Given the description of an element on the screen output the (x, y) to click on. 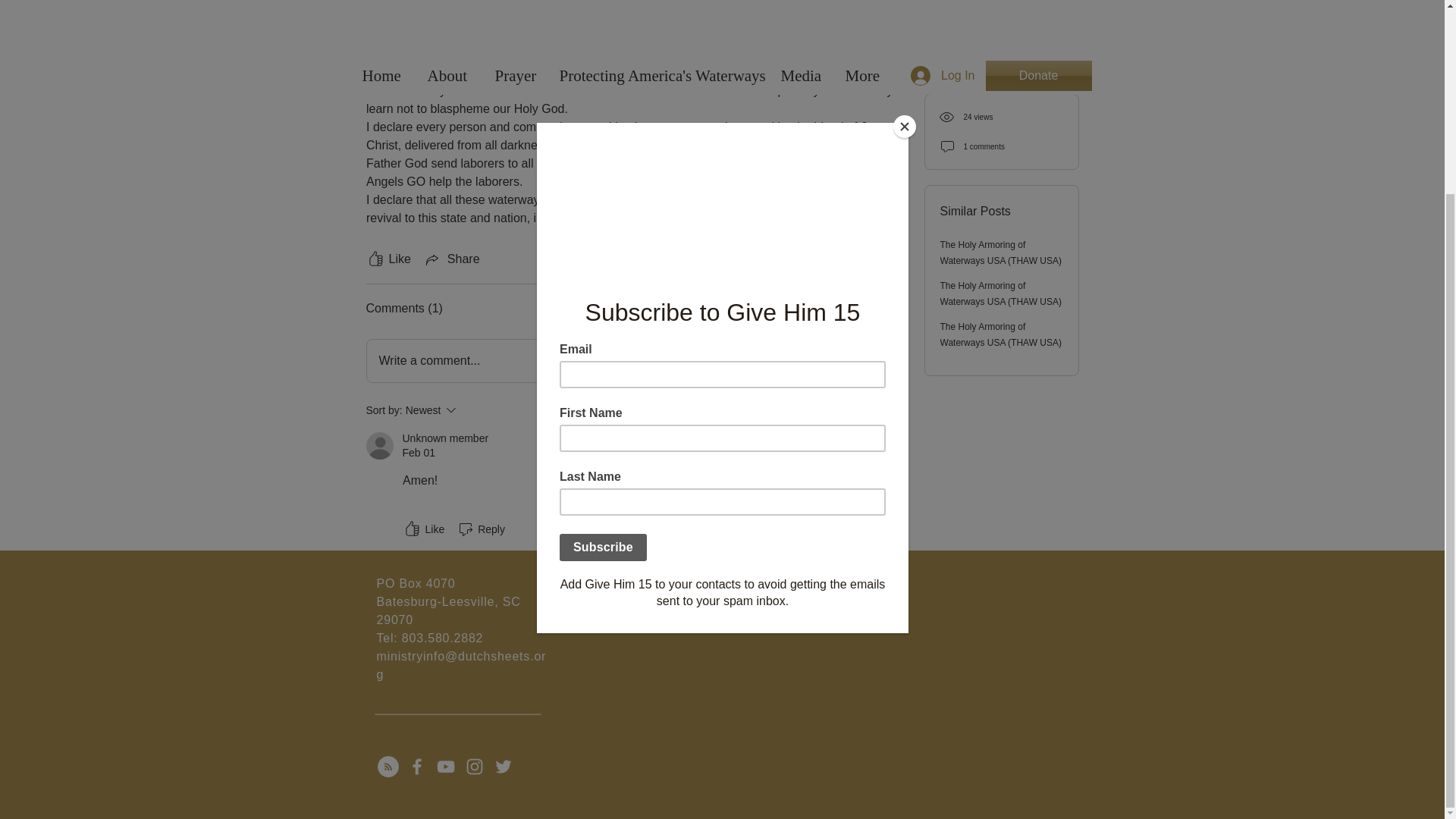
1 (471, 410)
Reply (888, 529)
in NEBRASKA (481, 529)
Like (404, 6)
Share (387, 259)
5 (451, 259)
Like (888, 259)
Write a comment... (422, 529)
